Given the description of an element on the screen output the (x, y) to click on. 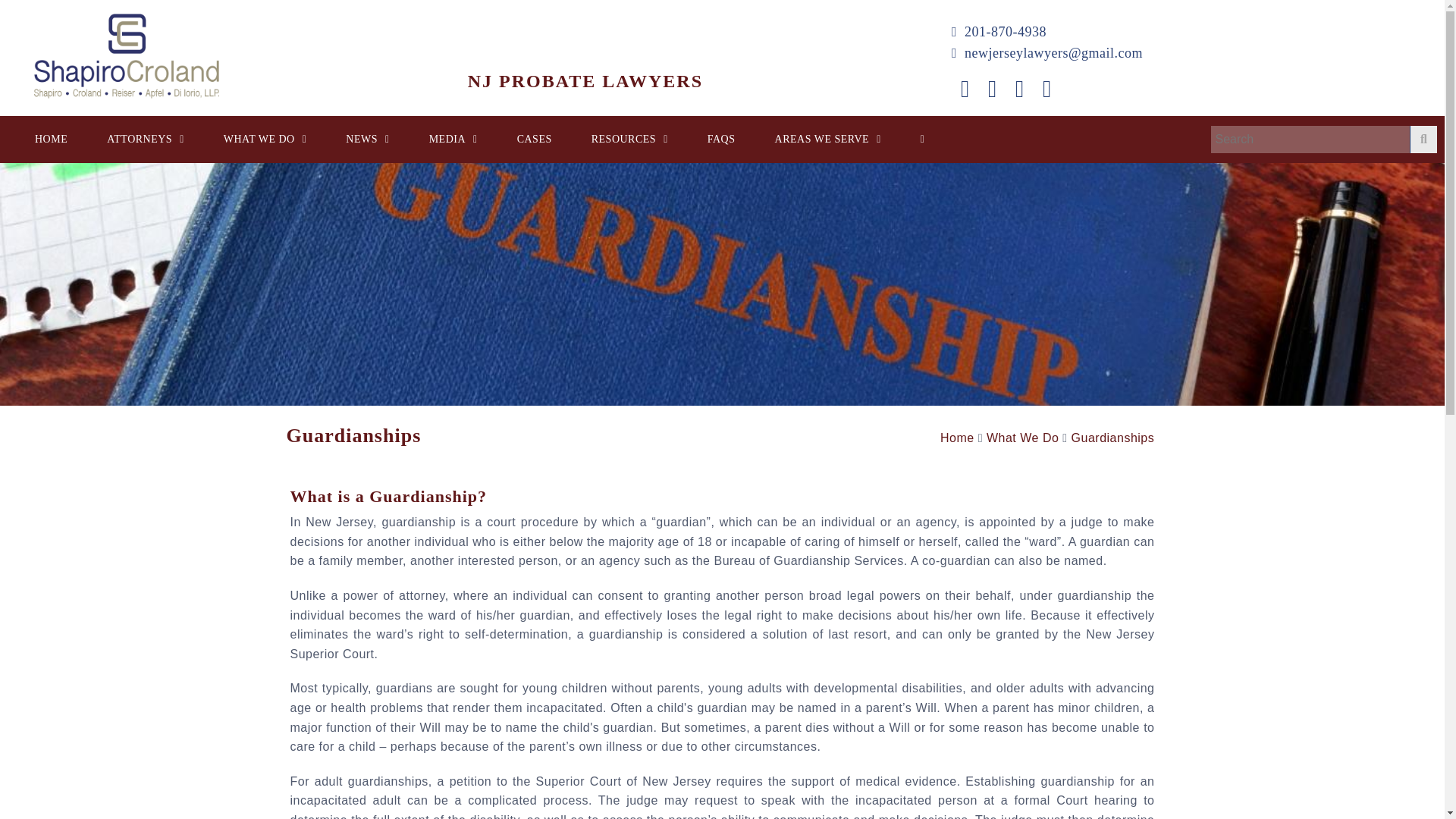
CASES (534, 139)
HOME (51, 139)
WHAT WE DO (264, 139)
MEDIA (452, 139)
NEWS (367, 139)
AREAS WE SERVE (827, 139)
NJ Probate Lawyers (126, 55)
RESOURCES (629, 139)
ATTORNEYS (145, 139)
NJ PROBATE LAWYERS (492, 50)
FAQS (721, 139)
